Given the description of an element on the screen output the (x, y) to click on. 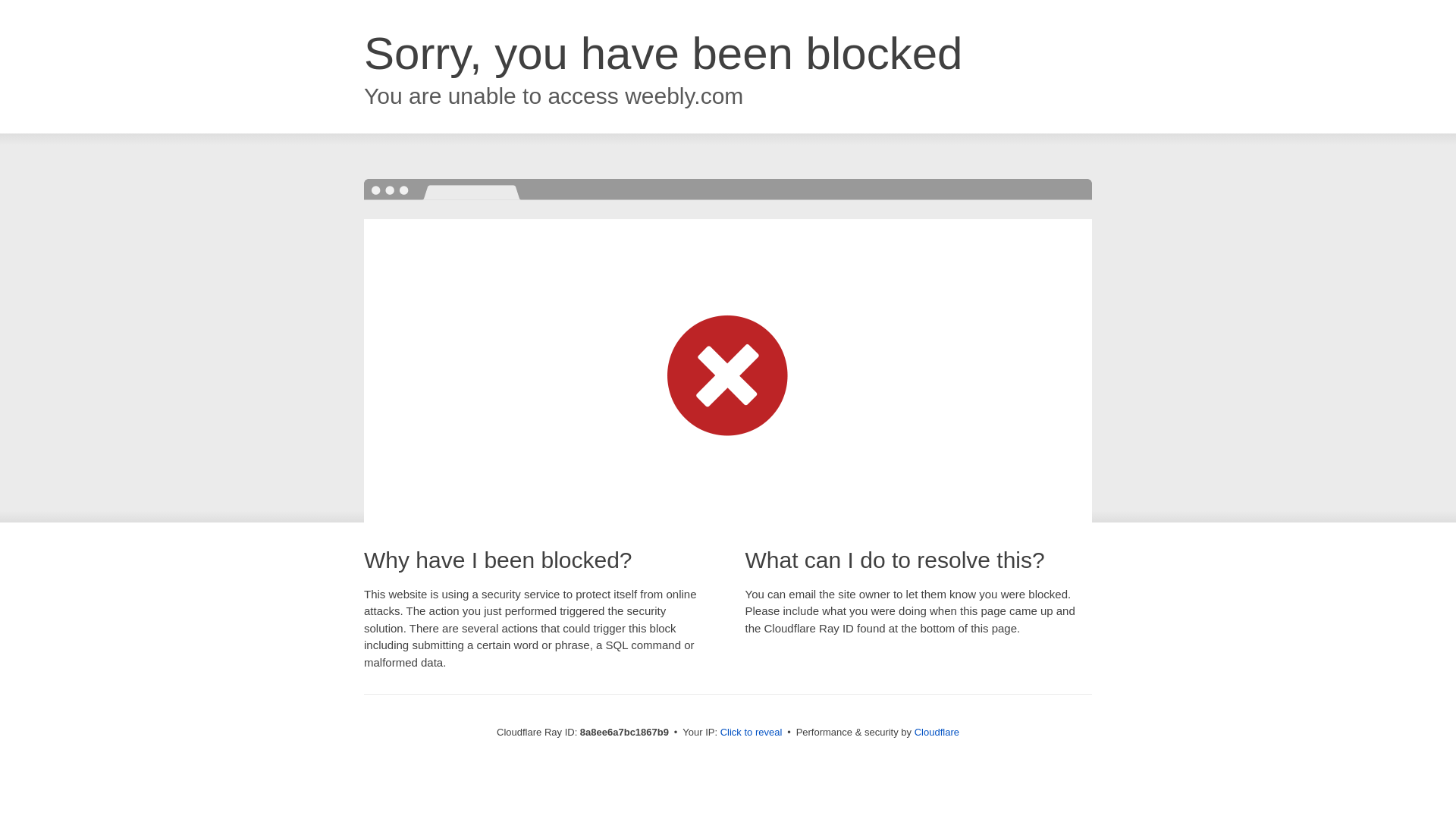
Cloudflare (936, 731)
Click to reveal (751, 732)
